Given the description of an element on the screen output the (x, y) to click on. 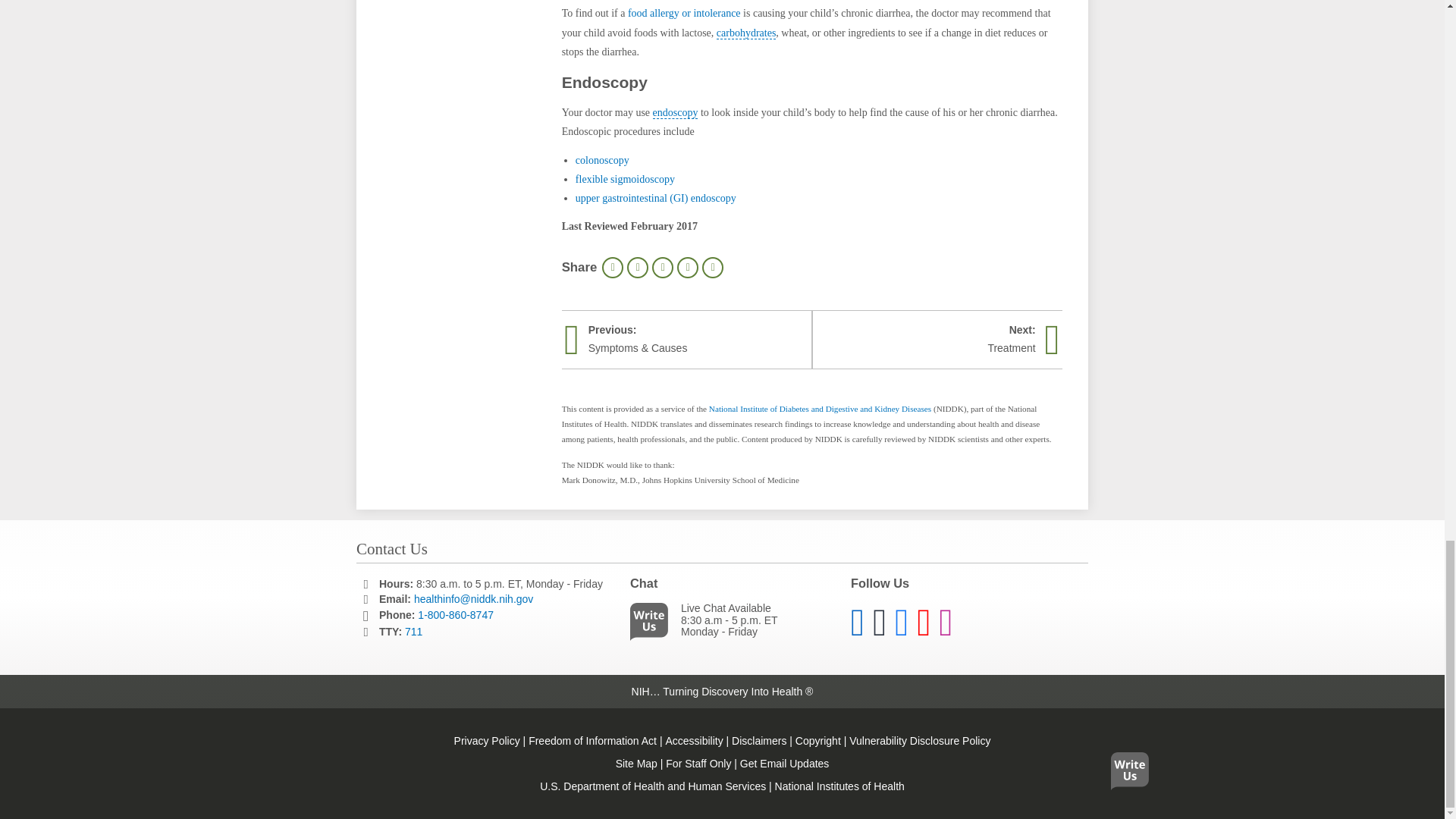
Post this page on X (662, 267)
Write us (652, 625)
Print this page (612, 267)
Email this page (687, 267)
More sharing options (712, 267)
Share this page on Facebook (637, 267)
